Given the description of an element on the screen output the (x, y) to click on. 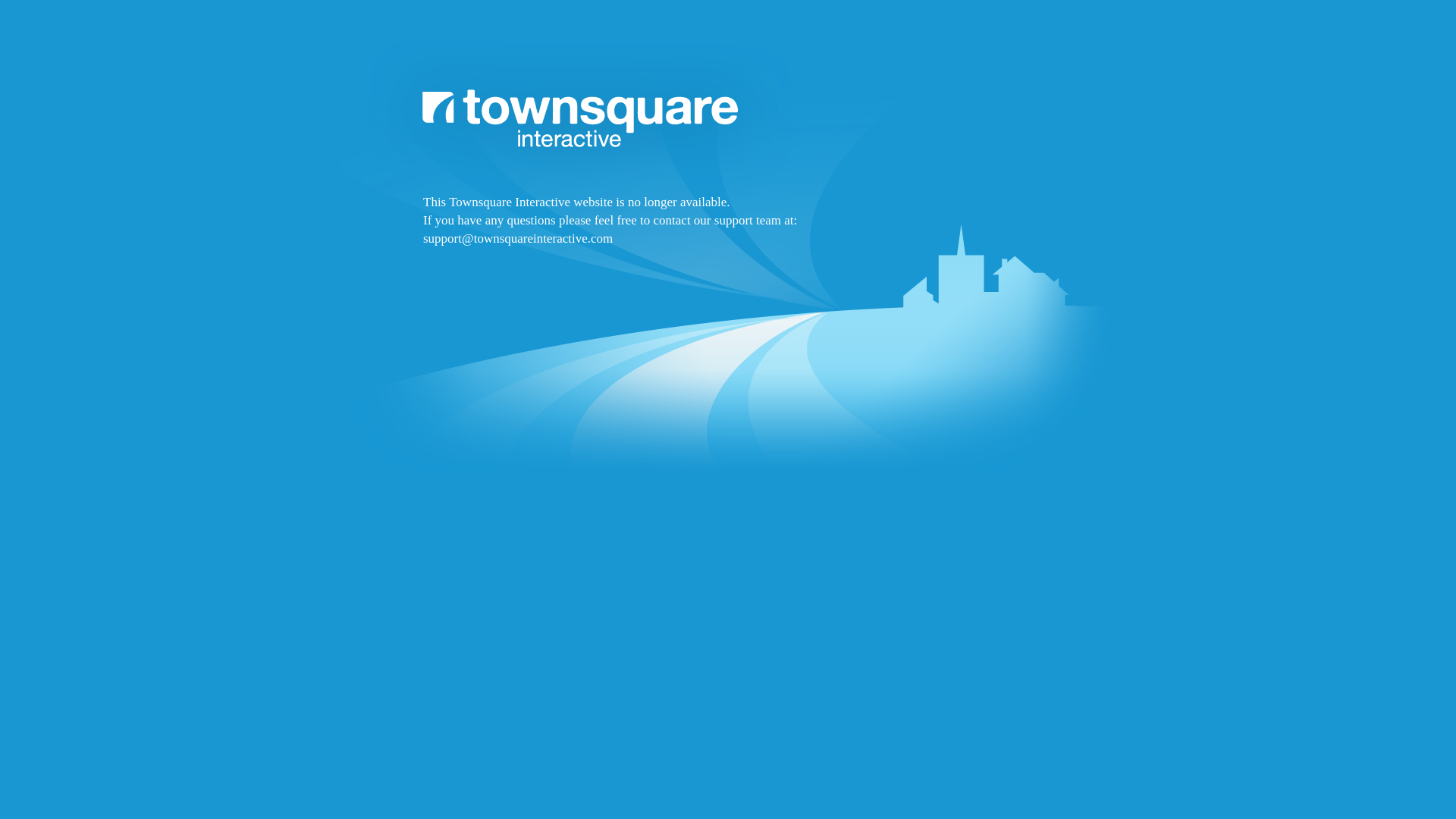
Townsquare Interactive Element type: hover (727, 297)
